Given the description of an element on the screen output the (x, y) to click on. 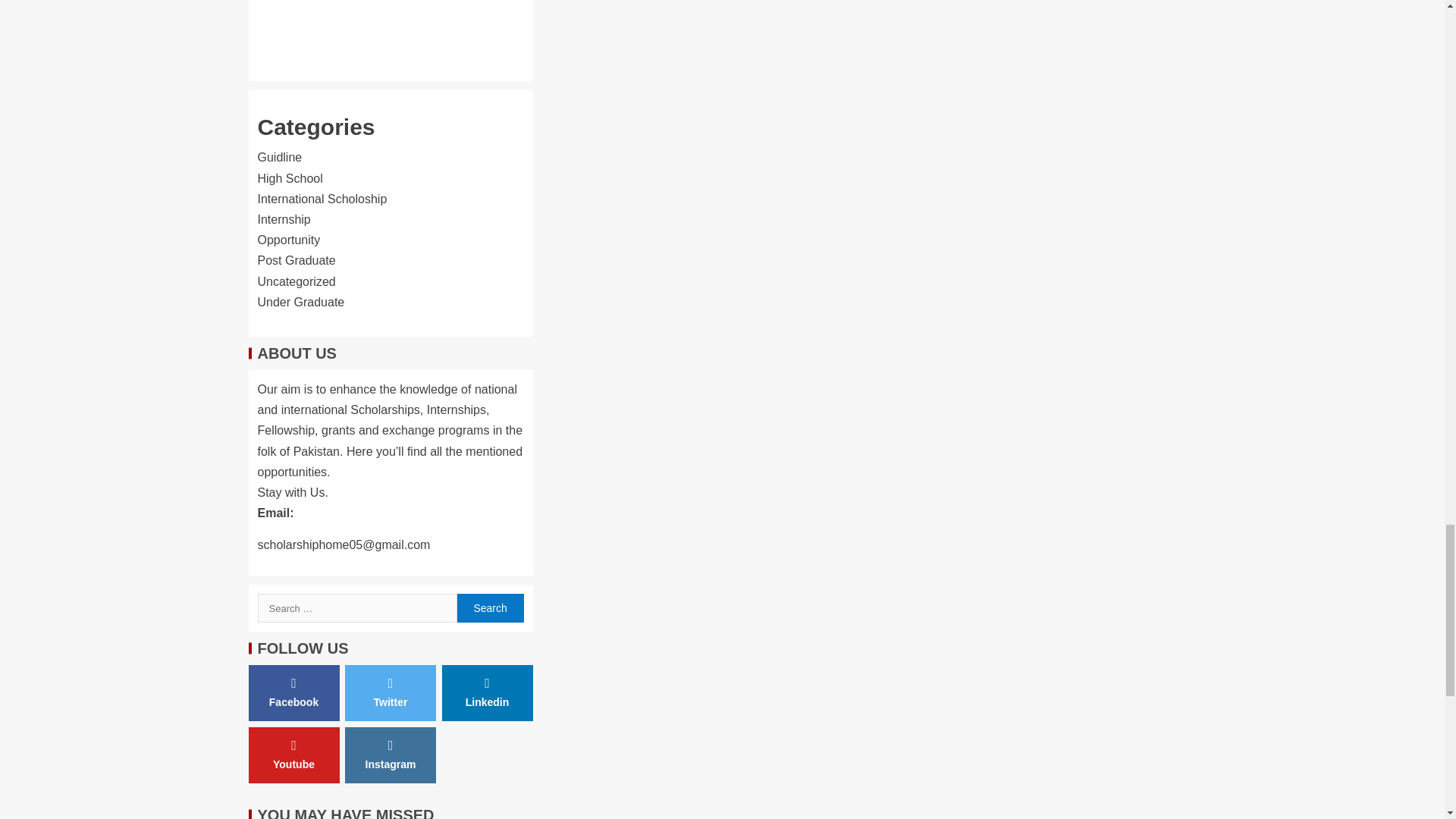
Guidline (279, 156)
Post Graduate (296, 259)
Internship (284, 219)
Search (490, 607)
High School (290, 178)
Uncategorized (296, 281)
International Scholoship (322, 198)
Under Graduate (301, 301)
Search (490, 607)
Search (490, 607)
